Given the description of an element on the screen output the (x, y) to click on. 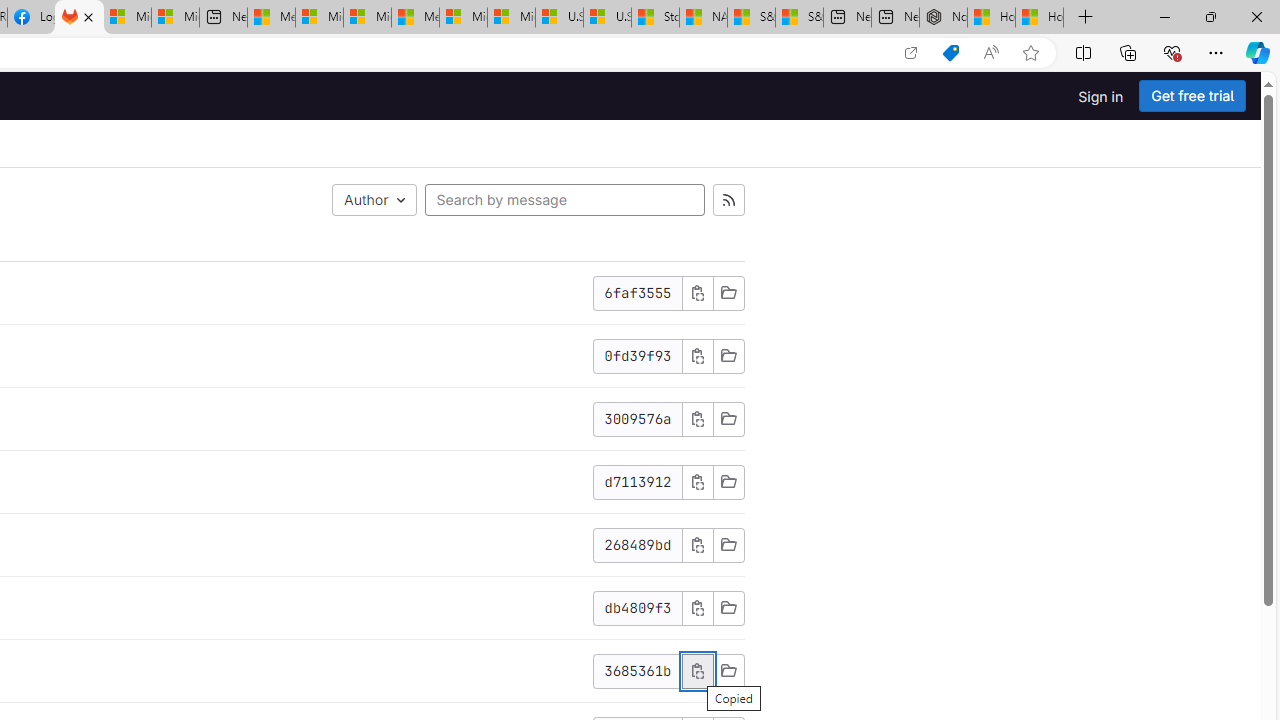
Browse Files (727, 671)
Sign in (1100, 95)
S&P 500, Nasdaq end lower, weighed by Nvidia dip | Watch (799, 17)
